Given the description of an element on the screen output the (x, y) to click on. 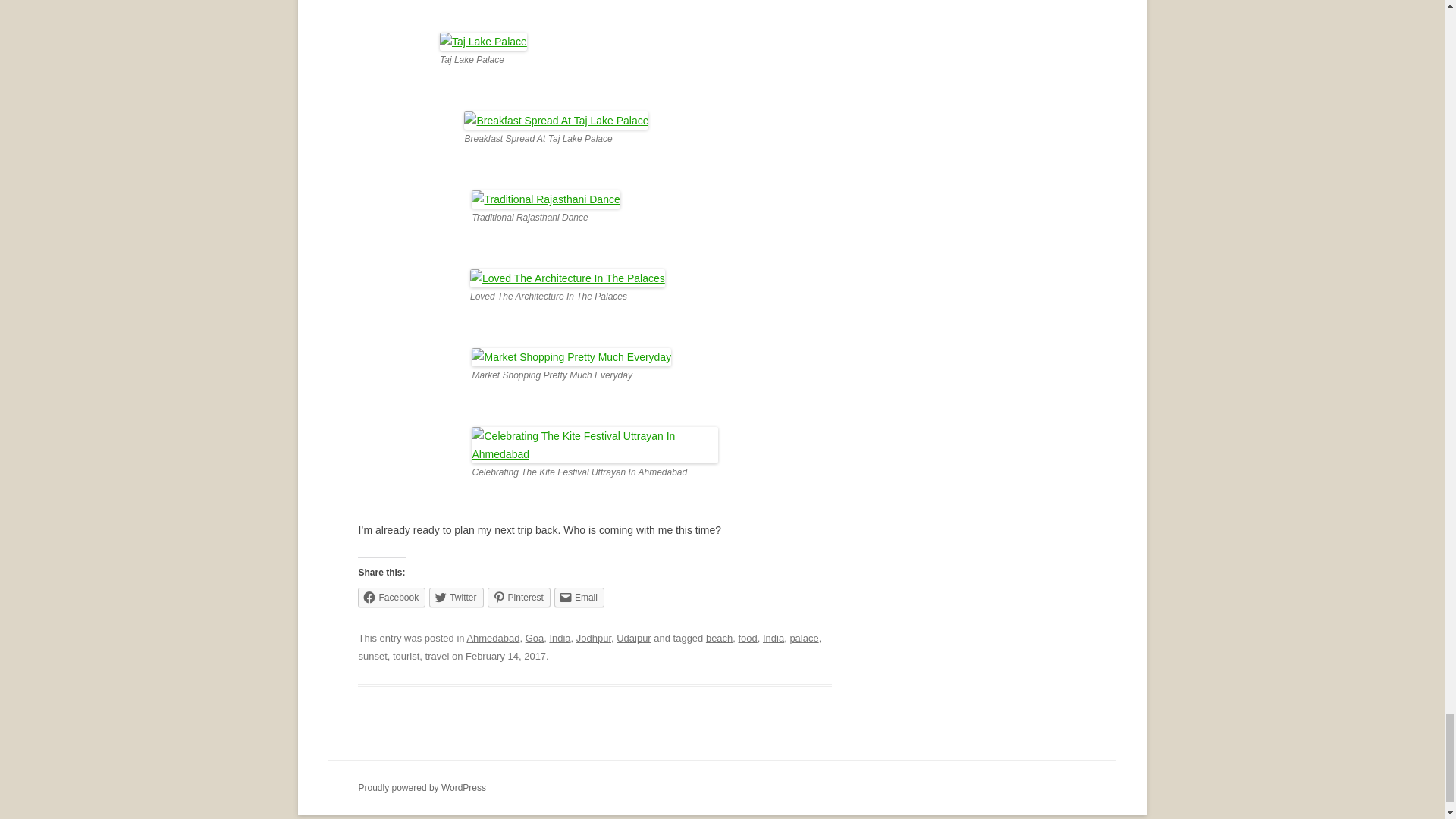
3:59 PM (505, 655)
Click to share on Twitter (456, 597)
Click to share on Facebook (391, 597)
Click to email a link to a friend (579, 597)
Click to share on Pinterest (518, 597)
